Given the description of an element on the screen output the (x, y) to click on. 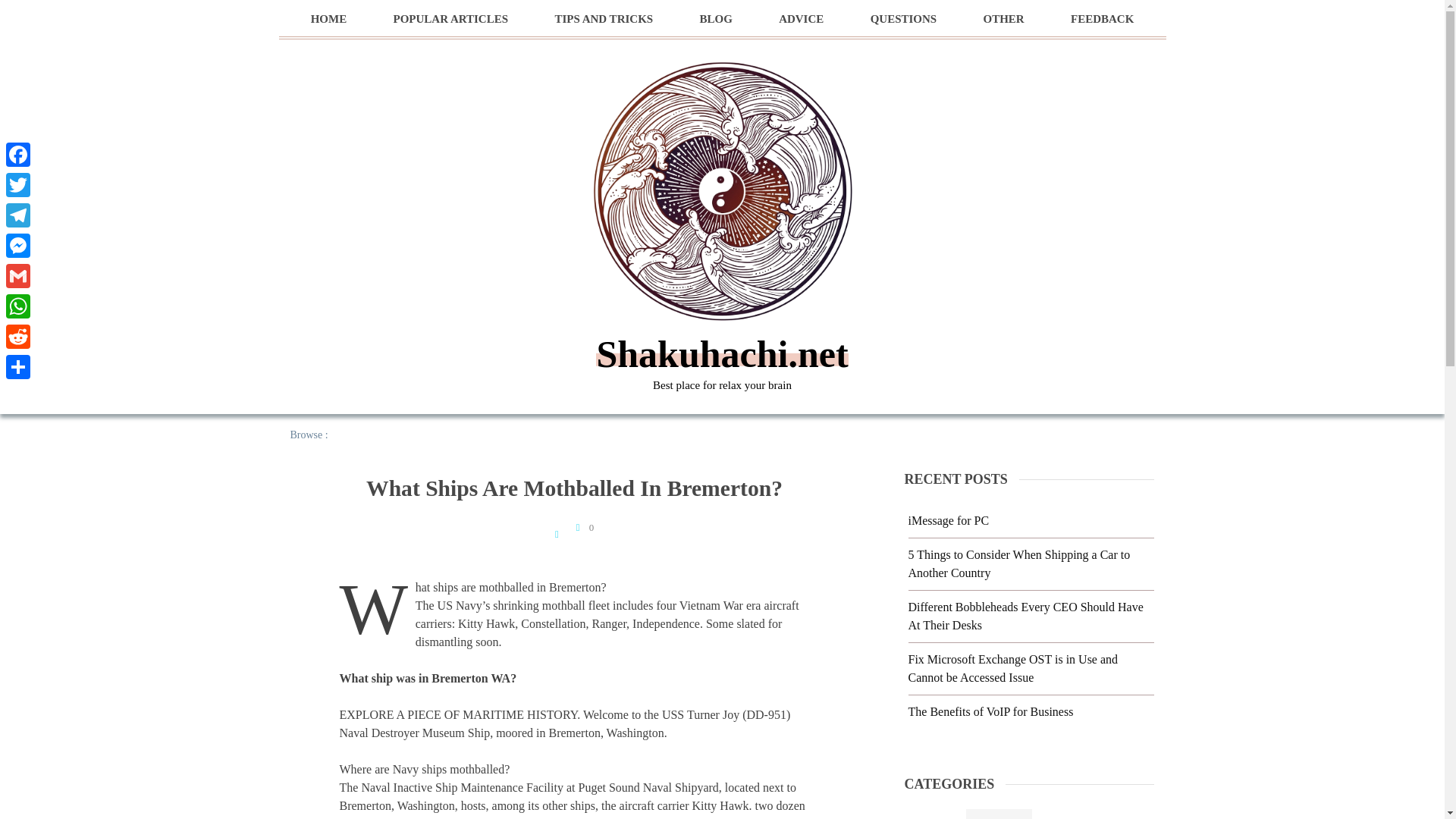
The Benefits of VoIP for Business (991, 711)
HOME (328, 19)
Blog (999, 814)
Messenger (17, 245)
Reddit (17, 336)
Telegram (17, 214)
Twitter (17, 184)
Gmail (17, 276)
5 Things to Consider When Shipping a Car to Another Country (1019, 563)
FEEDBACK (1101, 19)
ADVICE (801, 19)
OTHER (1003, 19)
Facebook (17, 154)
Home (348, 434)
